Given the description of an element on the screen output the (x, y) to click on. 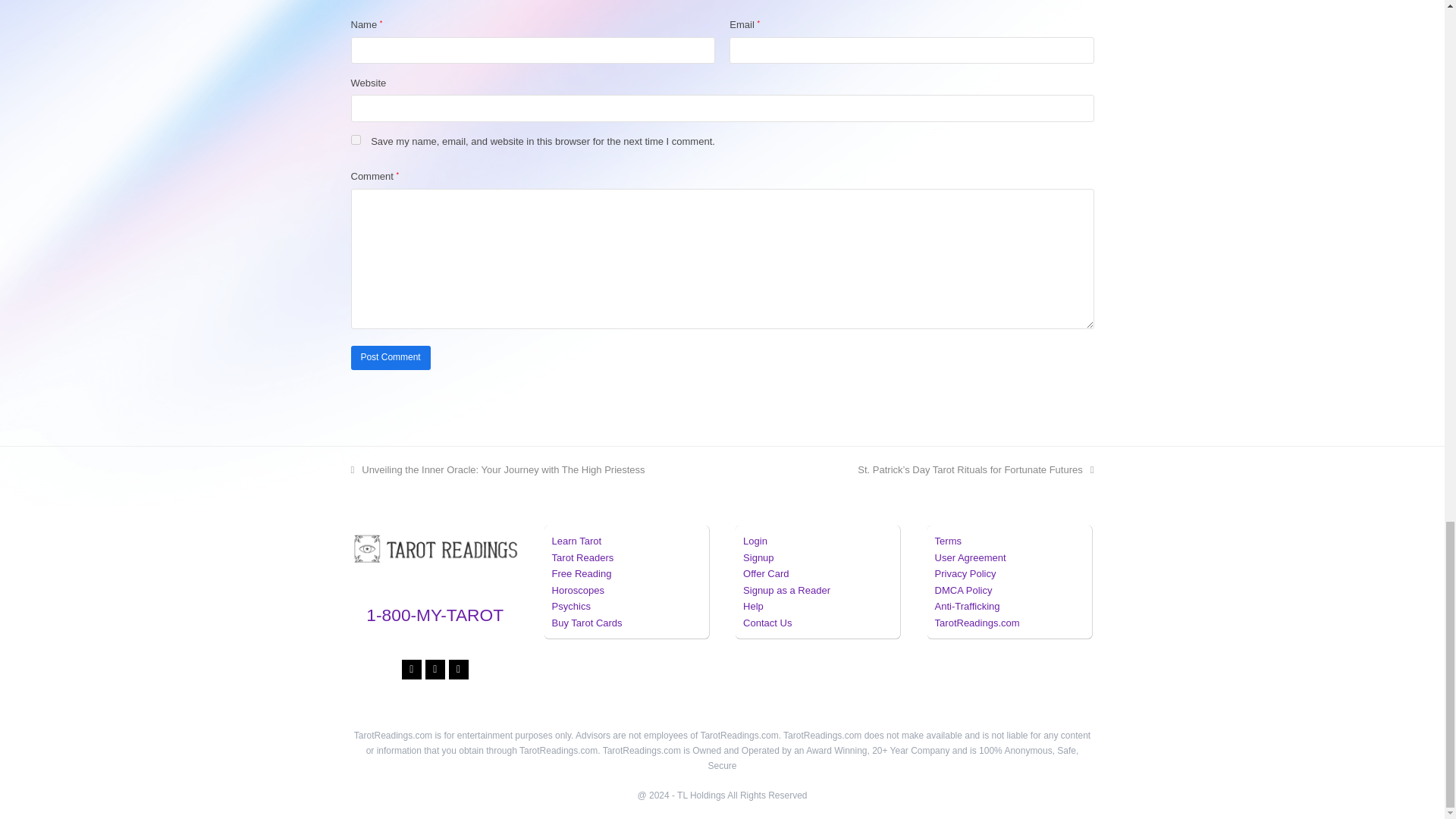
Instagram (435, 669)
Facebook (411, 669)
yes (354, 139)
Post Comment (389, 358)
Tiktok (458, 669)
